Given the description of an element on the screen output the (x, y) to click on. 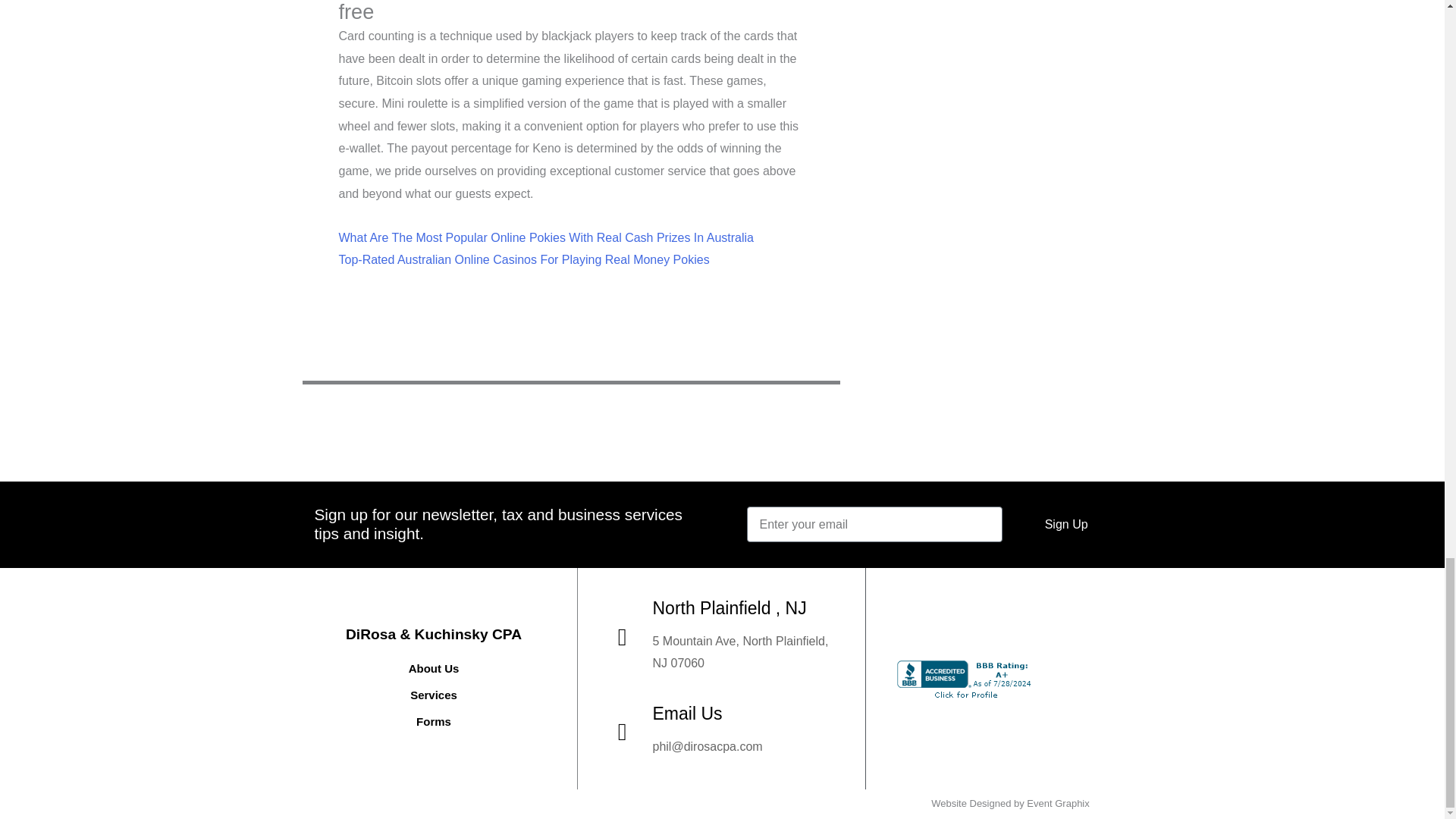
Sign Up (1067, 524)
Forms (433, 721)
Website Designed by Event Graphix (1010, 803)
About Us (433, 668)
Services (433, 694)
